Given the description of an element on the screen output the (x, y) to click on. 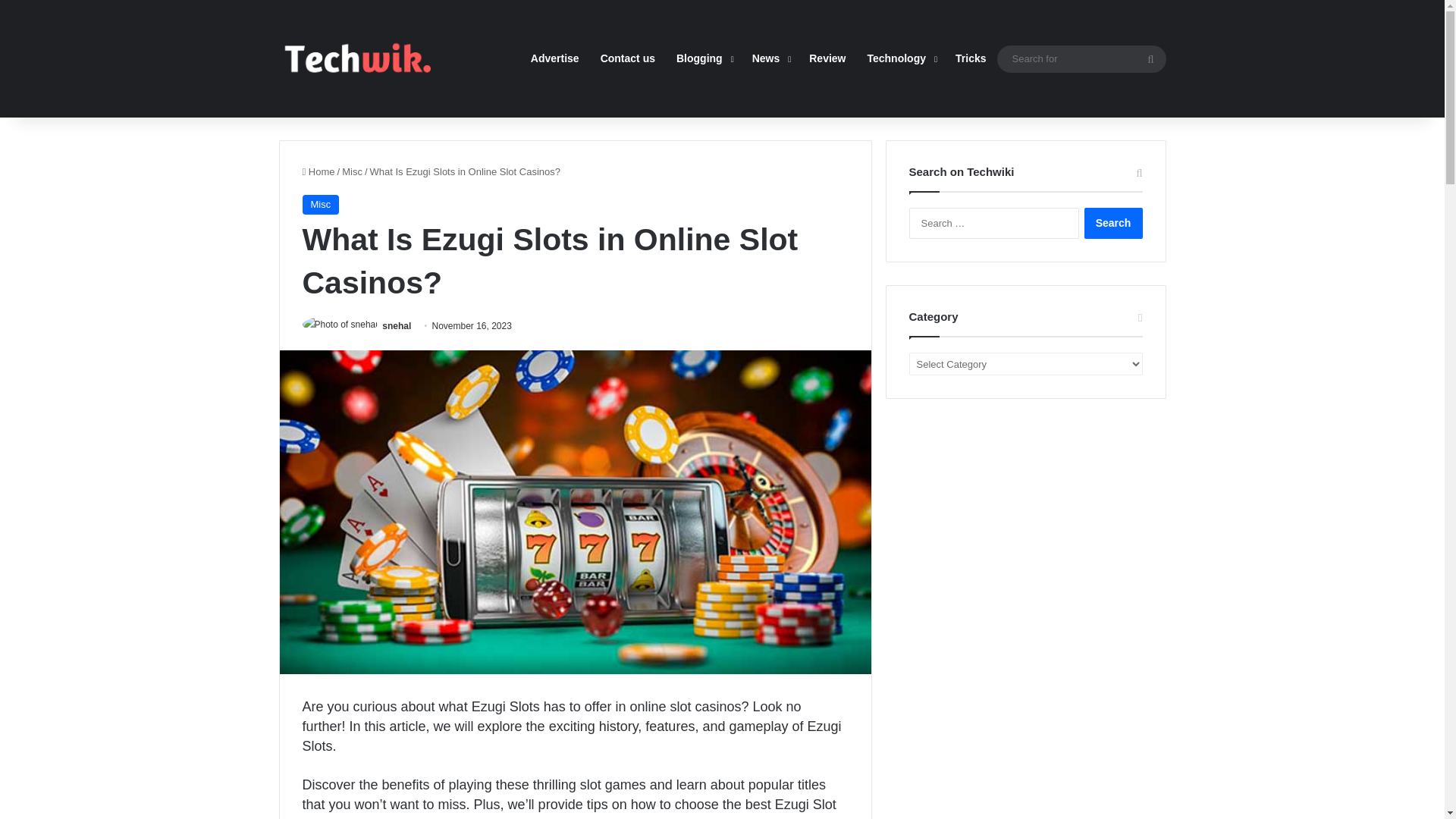
Search for (1080, 58)
Techwik (354, 58)
snehal (395, 326)
Home (317, 171)
Search (1113, 223)
snehal (395, 326)
Search (1113, 223)
Misc (352, 171)
Search for (1150, 58)
Misc (320, 204)
